Given the description of an element on the screen output the (x, y) to click on. 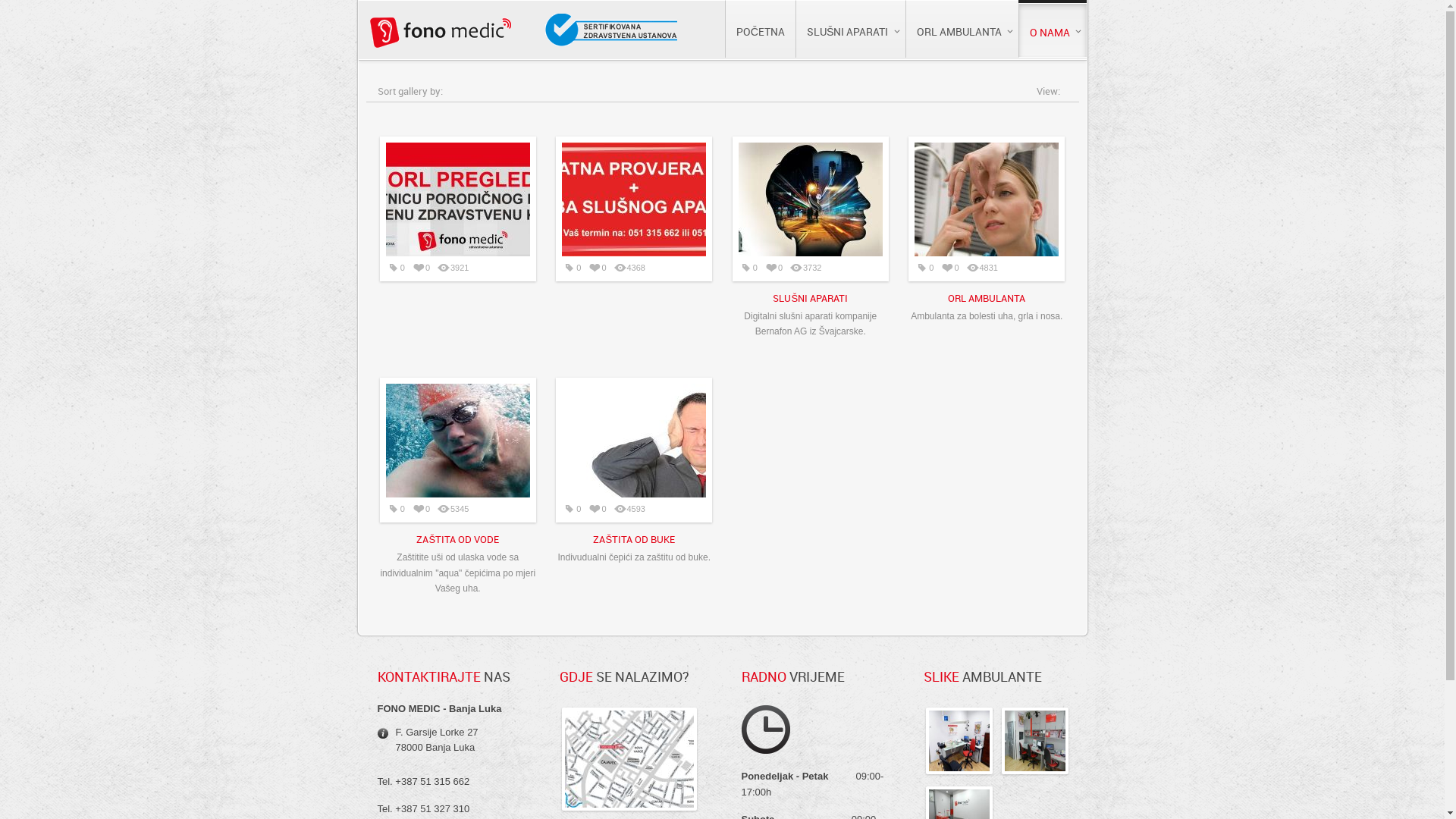
 :: Federika Garsije Lorke 27 Element type: hover (628, 758)
 :: Audiometrijska kabina - ordinacija Element type: hover (1034, 740)
 :: ORL ordinacija Element type: hover (958, 740)
ORL AMBULANTA Element type: text (961, 28)
O NAMA Element type: text (1051, 30)
